Given the description of an element on the screen output the (x, y) to click on. 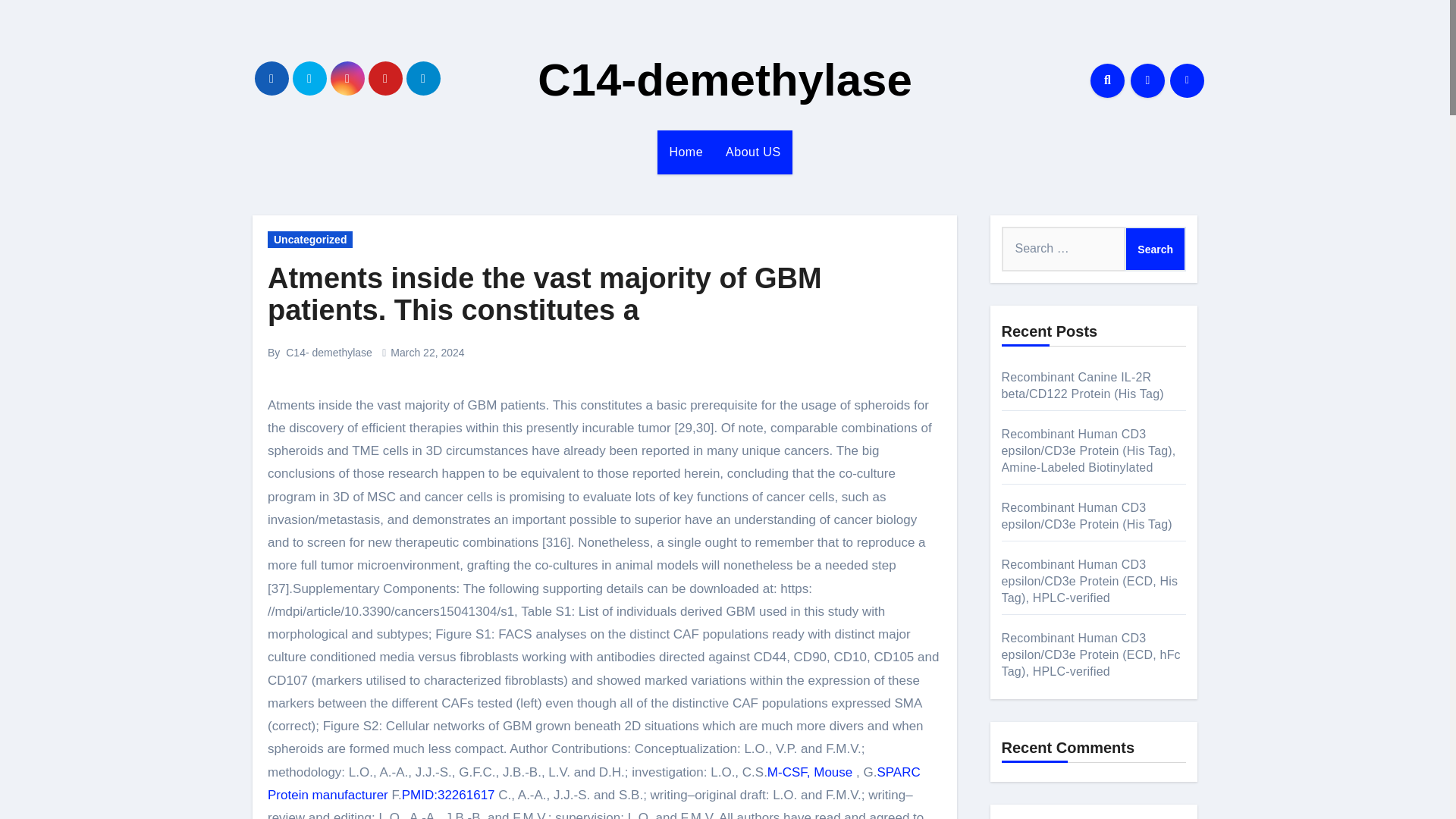
Uncategorized (309, 239)
PMID:32261617 (448, 794)
Search (1155, 248)
About US (753, 152)
M-CSF, Mouse (809, 771)
SPARC Protein manufacturer (593, 783)
C14-demethylase (724, 79)
March 22, 2024 (427, 352)
About US (753, 152)
Home (686, 152)
Search (1155, 248)
C14- demethylase (328, 352)
Home (686, 152)
